Given the description of an element on the screen output the (x, y) to click on. 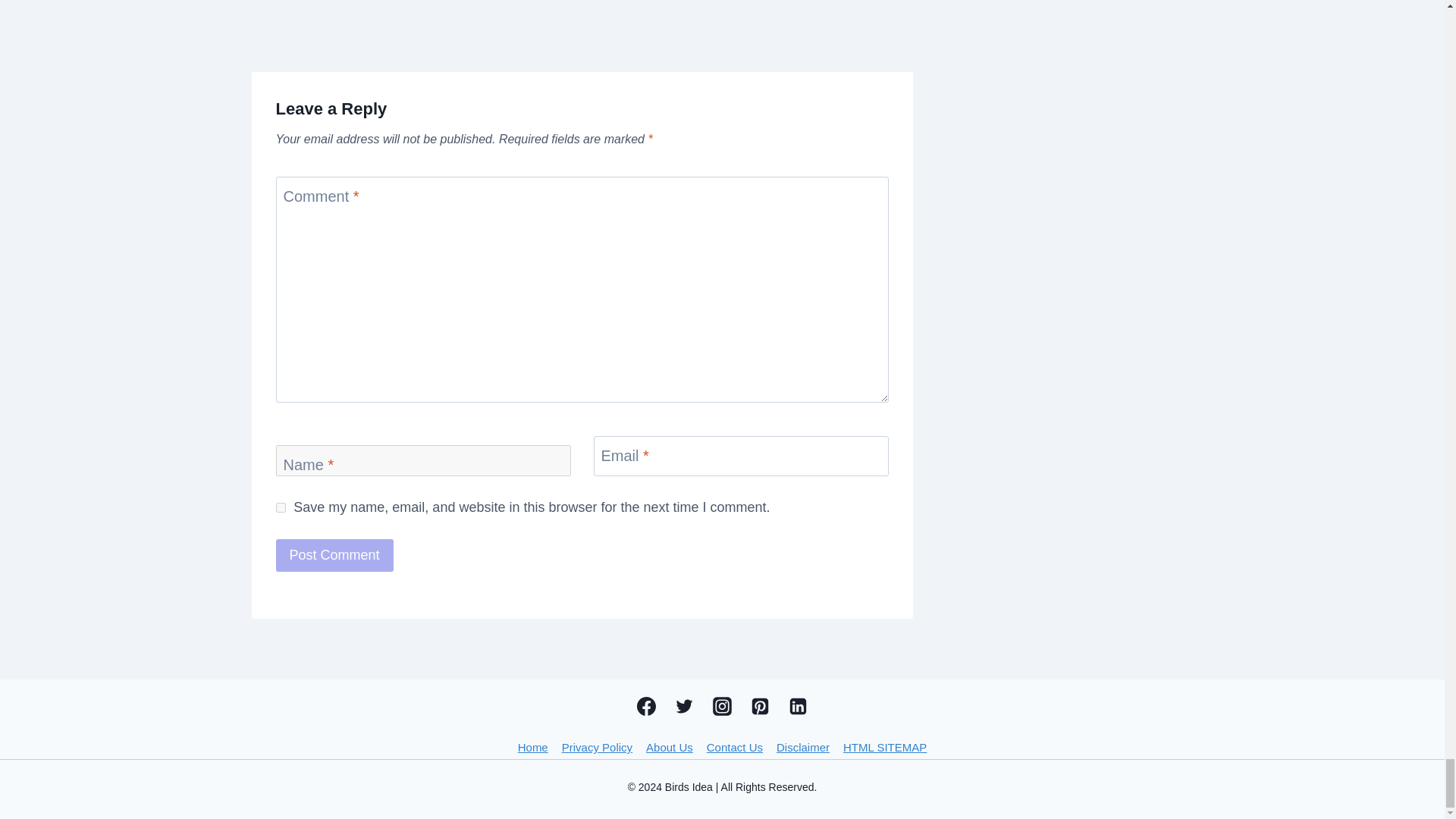
yes (280, 507)
Post Comment (334, 554)
